Given the description of an element on the screen output the (x, y) to click on. 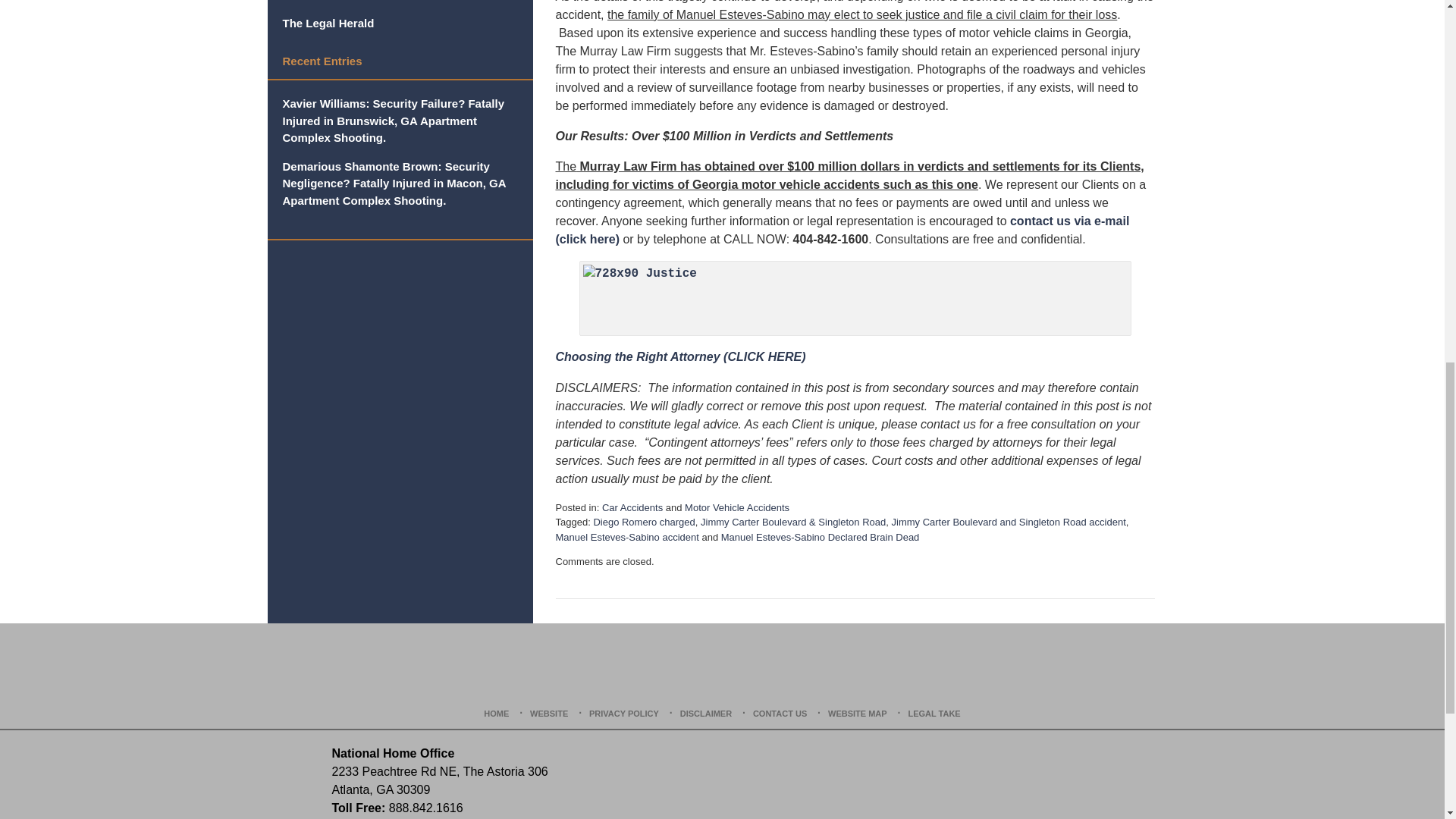
The Legal Herald (399, 23)
View all posts tagged with Diego Romero charged (643, 521)
Manuel Esteves-Sabino accident (626, 536)
View all posts tagged with Manuel Esteves-Sabino accident (626, 536)
View all posts in Motor Vehicle Accidents (736, 507)
Diego Romero charged (643, 521)
Manuel Esteves-Sabino Declared Brain Dead (820, 536)
Car Accidents (632, 507)
Jimmy Carter Boulevard and Singleton Road accident (1008, 521)
Motor Vehicle Accidents (736, 507)
View all posts in Car Accidents (632, 507)
